Given the description of an element on the screen output the (x, y) to click on. 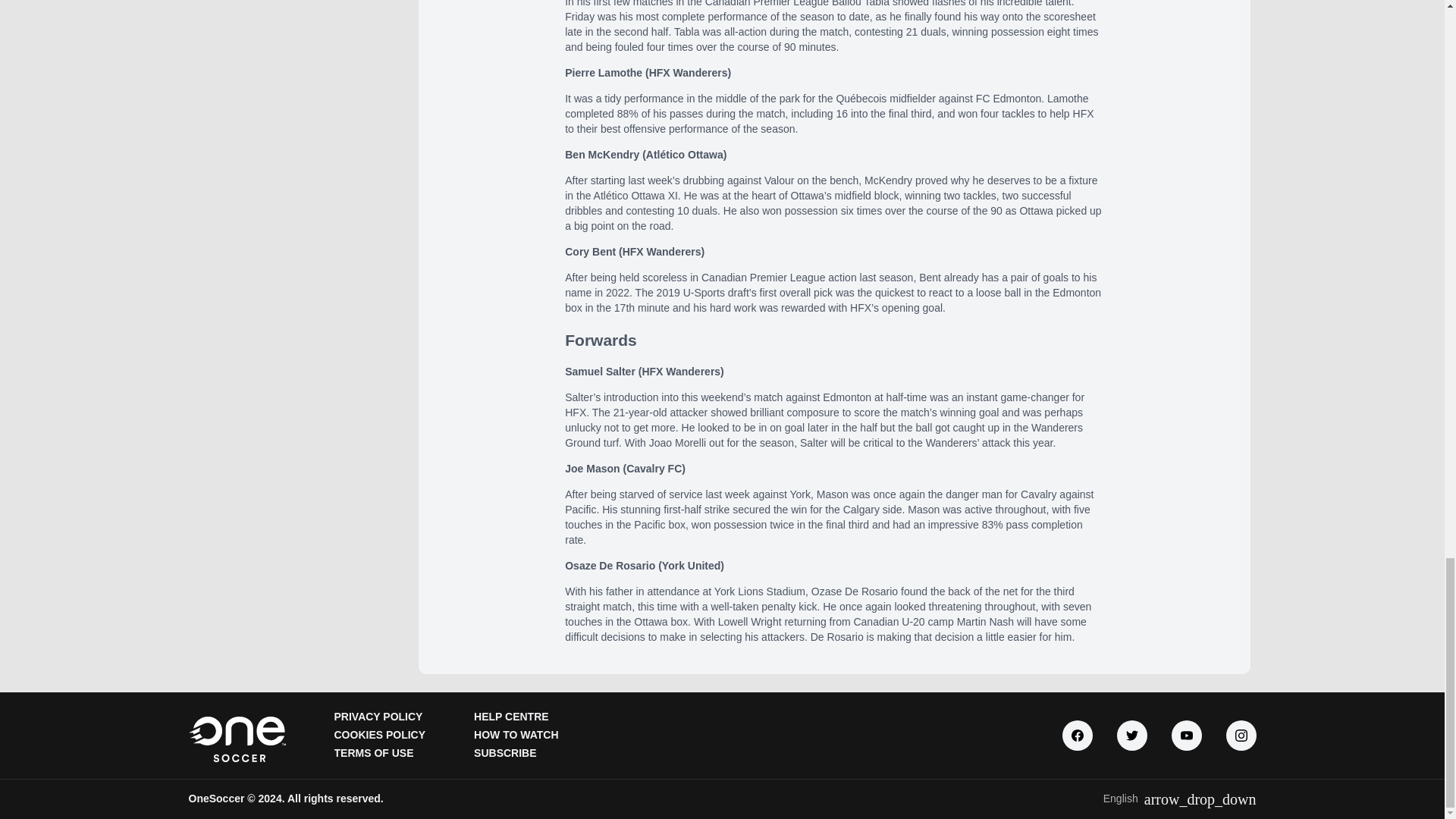
Youtube (1185, 735)
Facebook (1076, 735)
PRIVACY POLICY (377, 716)
COOKIES POLICY (379, 734)
Twitter (1131, 735)
Instagram (1240, 735)
